Given the description of an element on the screen output the (x, y) to click on. 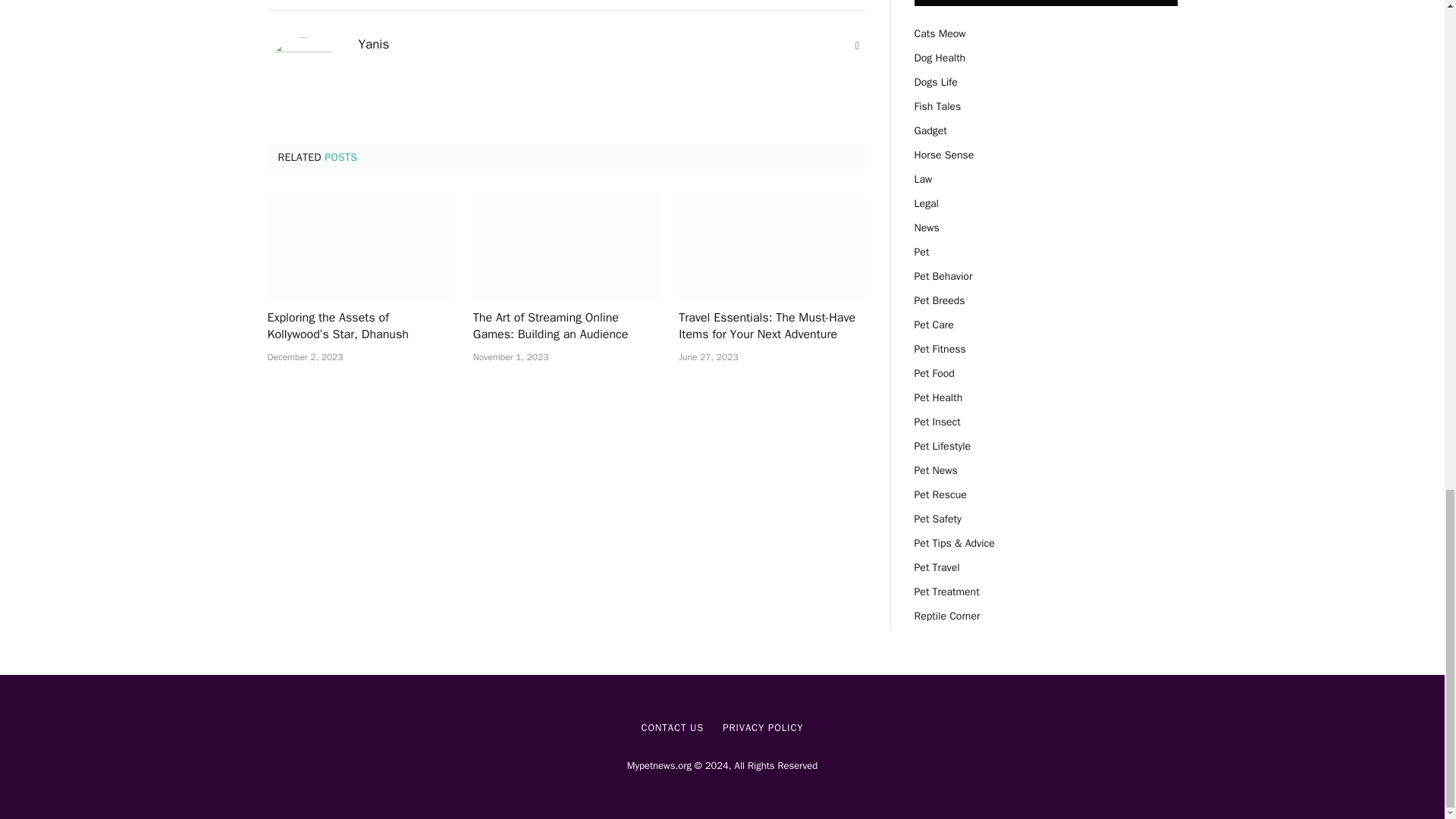
Website (856, 46)
Yanis (373, 44)
Posts by Yanis (373, 44)
The Art of Streaming Online Games: Building an Audience (566, 245)
The Art of Streaming Online Games: Building an Audience (566, 326)
Website (856, 46)
